Given the description of an element on the screen output the (x, y) to click on. 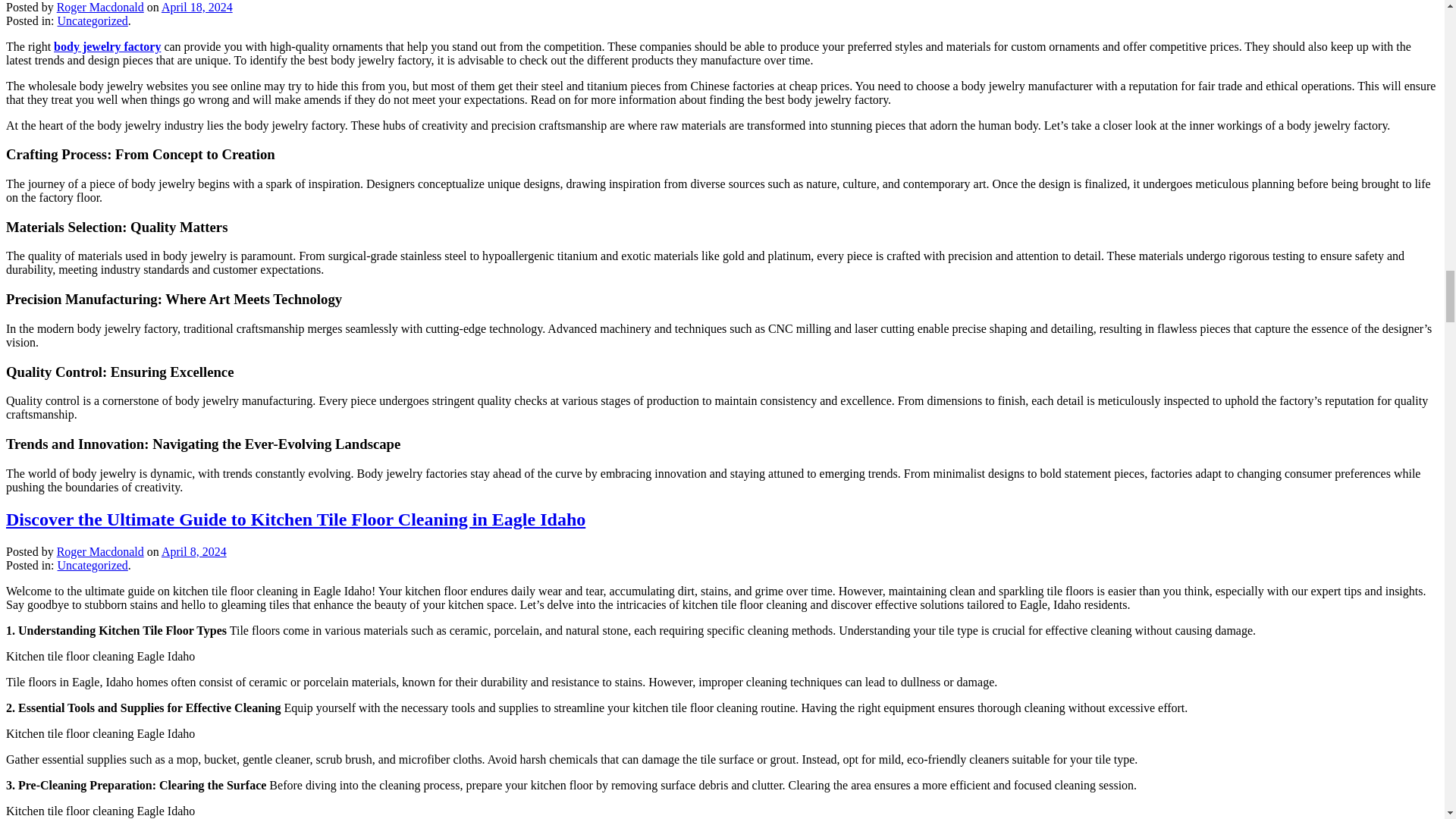
View all posts by Roger Macdonald (100, 550)
View all posts by Roger Macdonald (100, 6)
